Given the description of an element on the screen output the (x, y) to click on. 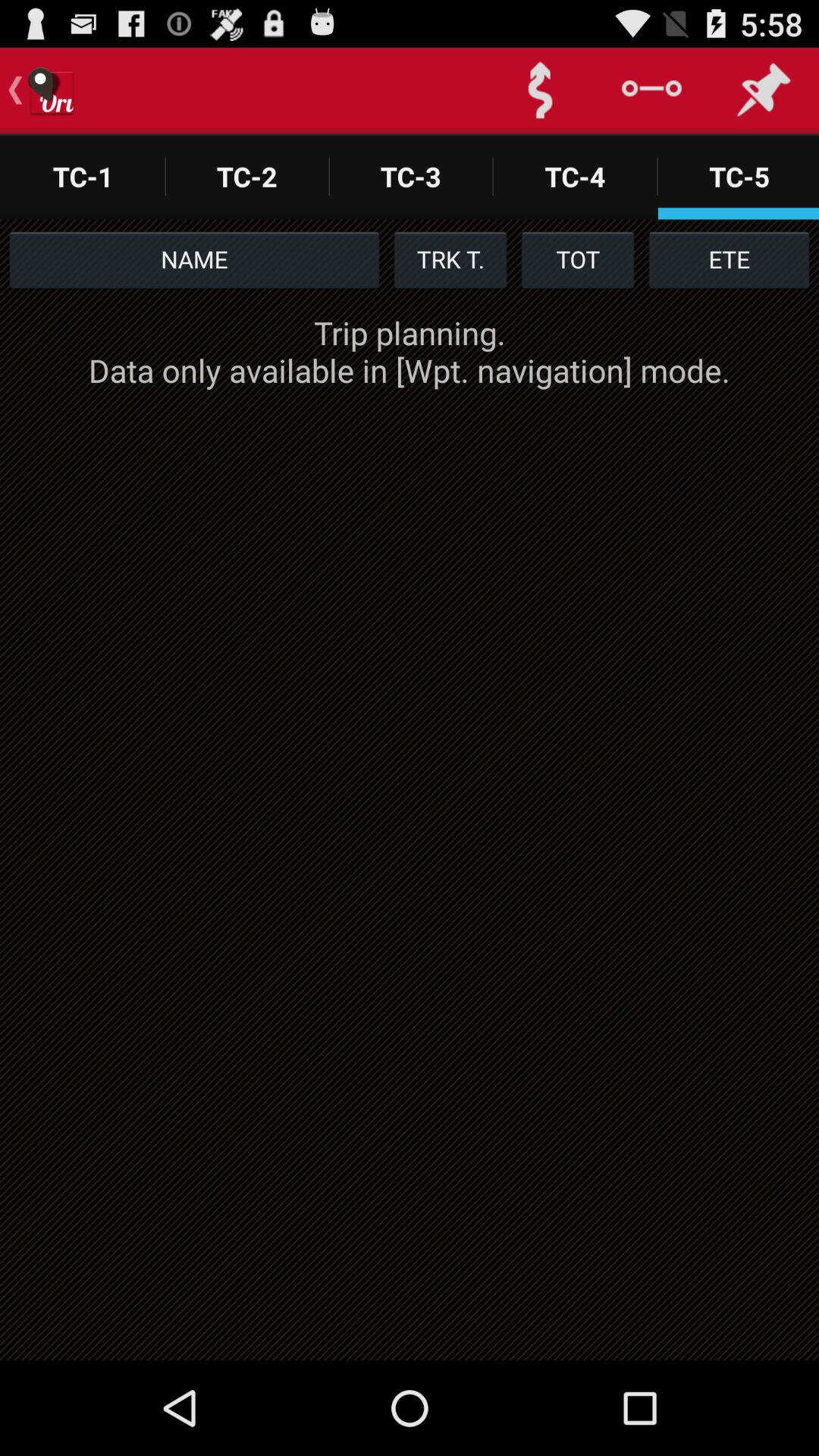
launch the item next to the trk t. item (577, 259)
